Given the description of an element on the screen output the (x, y) to click on. 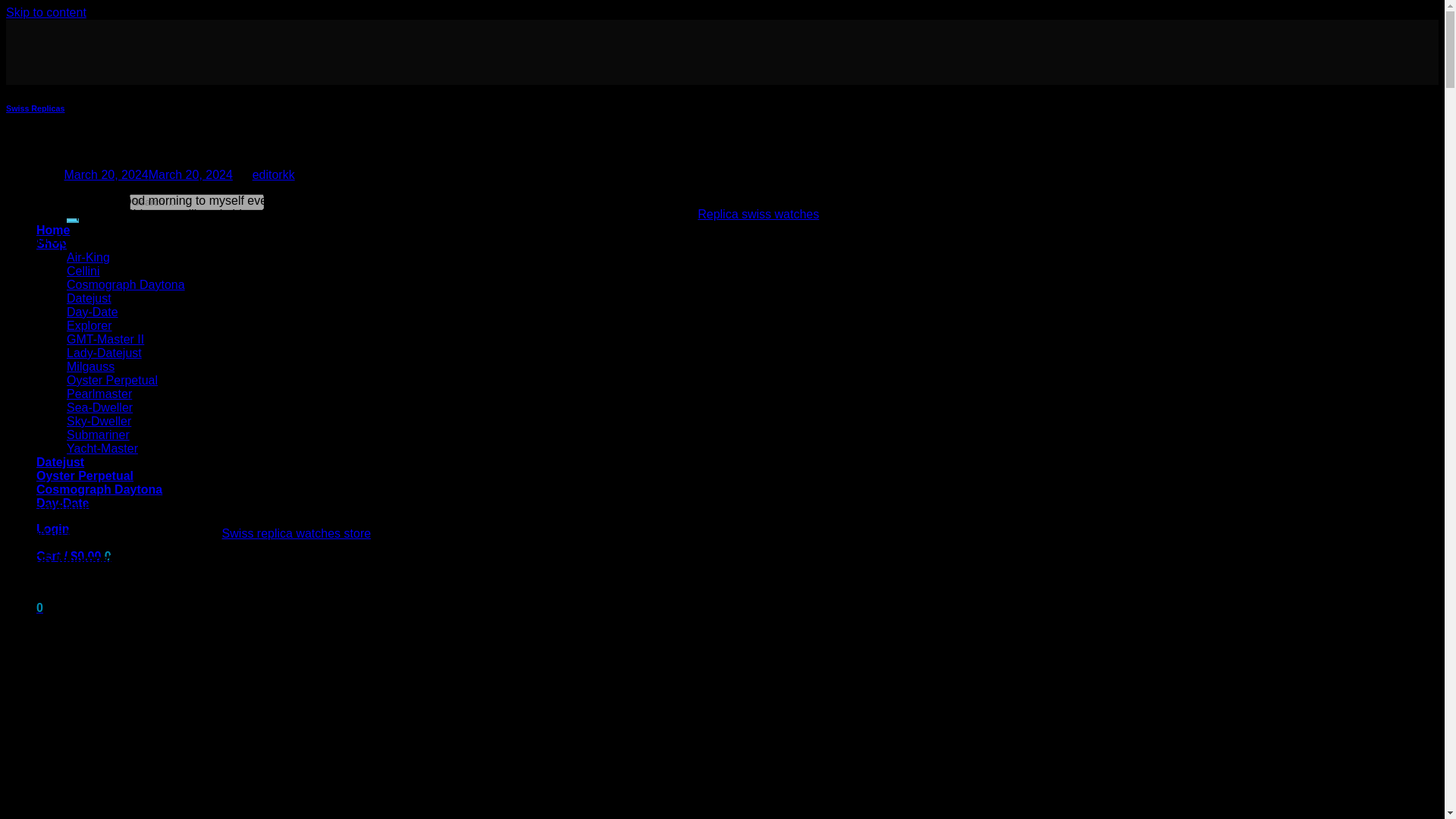
Datejust (60, 461)
Cellini (83, 270)
Oyster Perpetual (111, 379)
March 20, 2024March 20, 2024 (147, 174)
Milgauss (90, 366)
Swiss replica watches store (296, 533)
Day-Date (62, 502)
Cart (74, 555)
Air-King (88, 256)
Shop (51, 243)
Yacht-Master (102, 448)
Home (52, 229)
Cosmograph Daytona (125, 284)
Oyster Perpetual (84, 475)
